Given the description of an element on the screen output the (x, y) to click on. 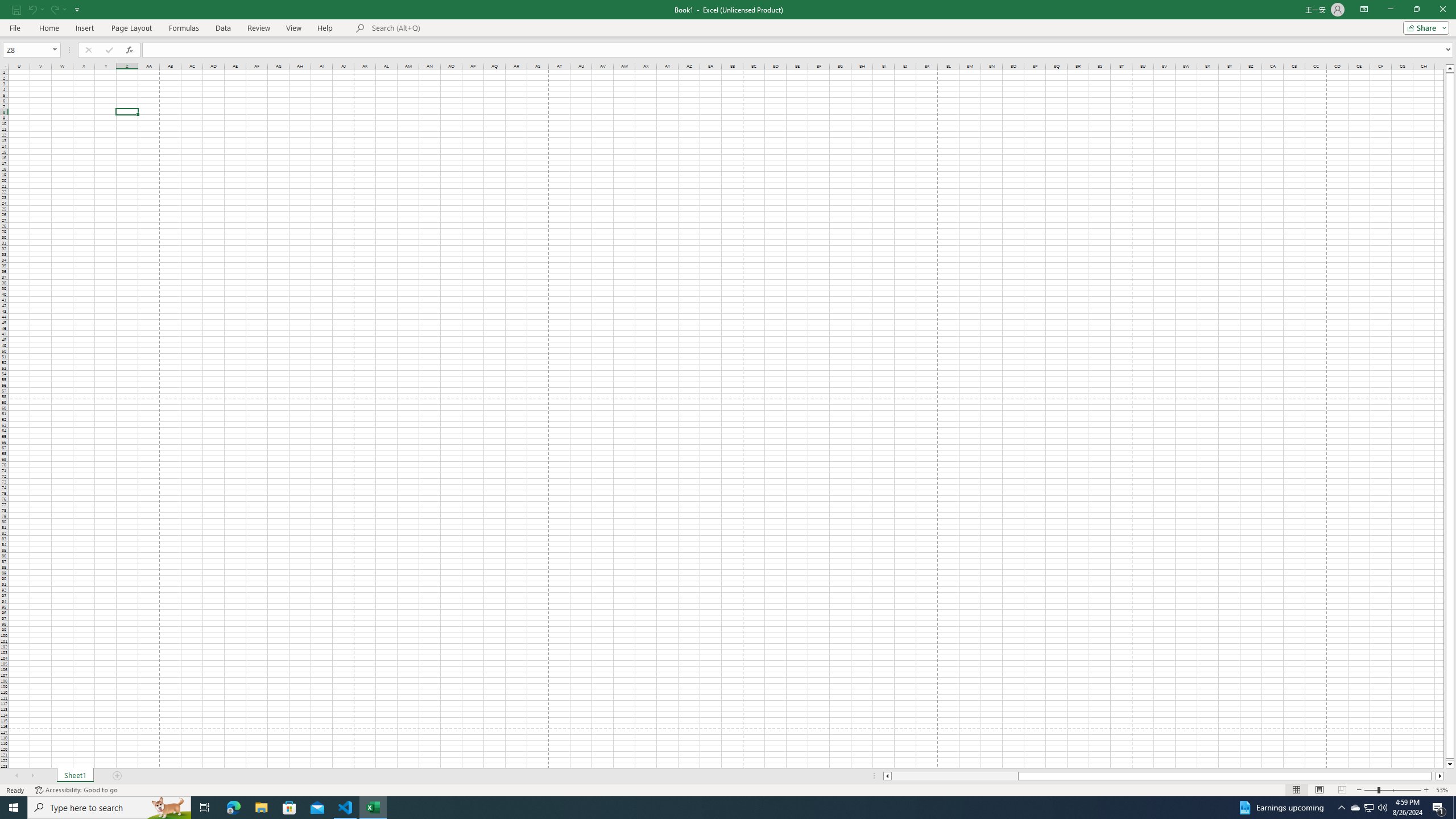
Page right (1433, 775)
Page left (954, 775)
